Given the description of an element on the screen output the (x, y) to click on. 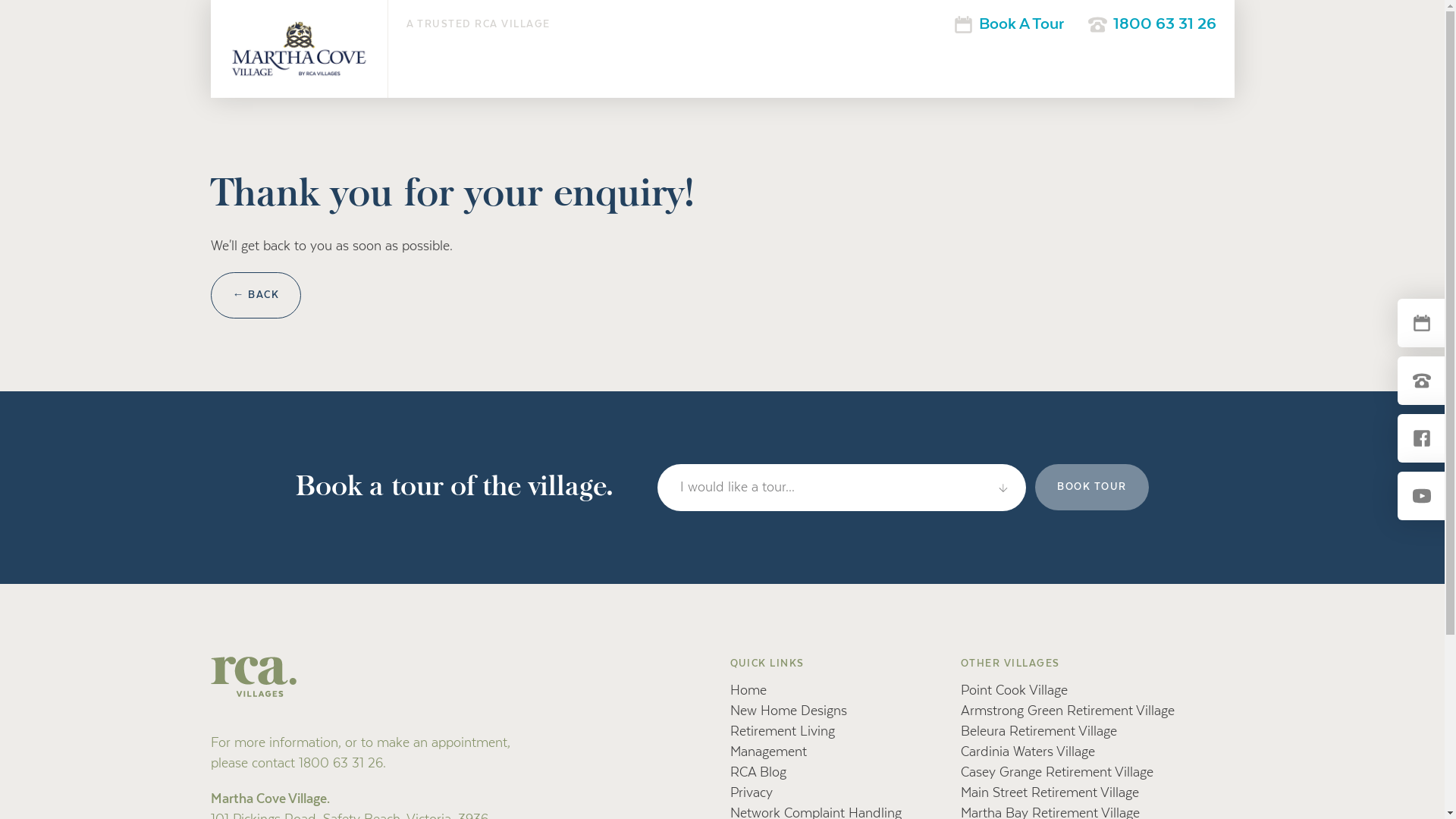
Home Element type: text (747, 690)
BOOK TOUR Element type: text (1091, 487)
Armstrong Green Retirement Village Element type: text (1067, 710)
Book A Tour Element type: text (1008, 24)
A TRUSTED RCA VILLAGE Element type: text (478, 24)
Main Street Retirement Village Element type: text (1049, 792)
RCA Blog Element type: text (757, 772)
Management Element type: text (767, 751)
1800 63 31 26 Element type: text (1151, 24)
New Home Designs Element type: text (787, 710)
Retirement Living Element type: text (781, 731)
Cardinia Waters Village Element type: text (1027, 751)
Beleura Retirement Village Element type: text (1038, 731)
Privacy Element type: text (750, 792)
Point Cook Village Element type: text (1013, 690)
Casey Grange Retirement Village Element type: text (1056, 772)
